Given the description of an element on the screen output the (x, y) to click on. 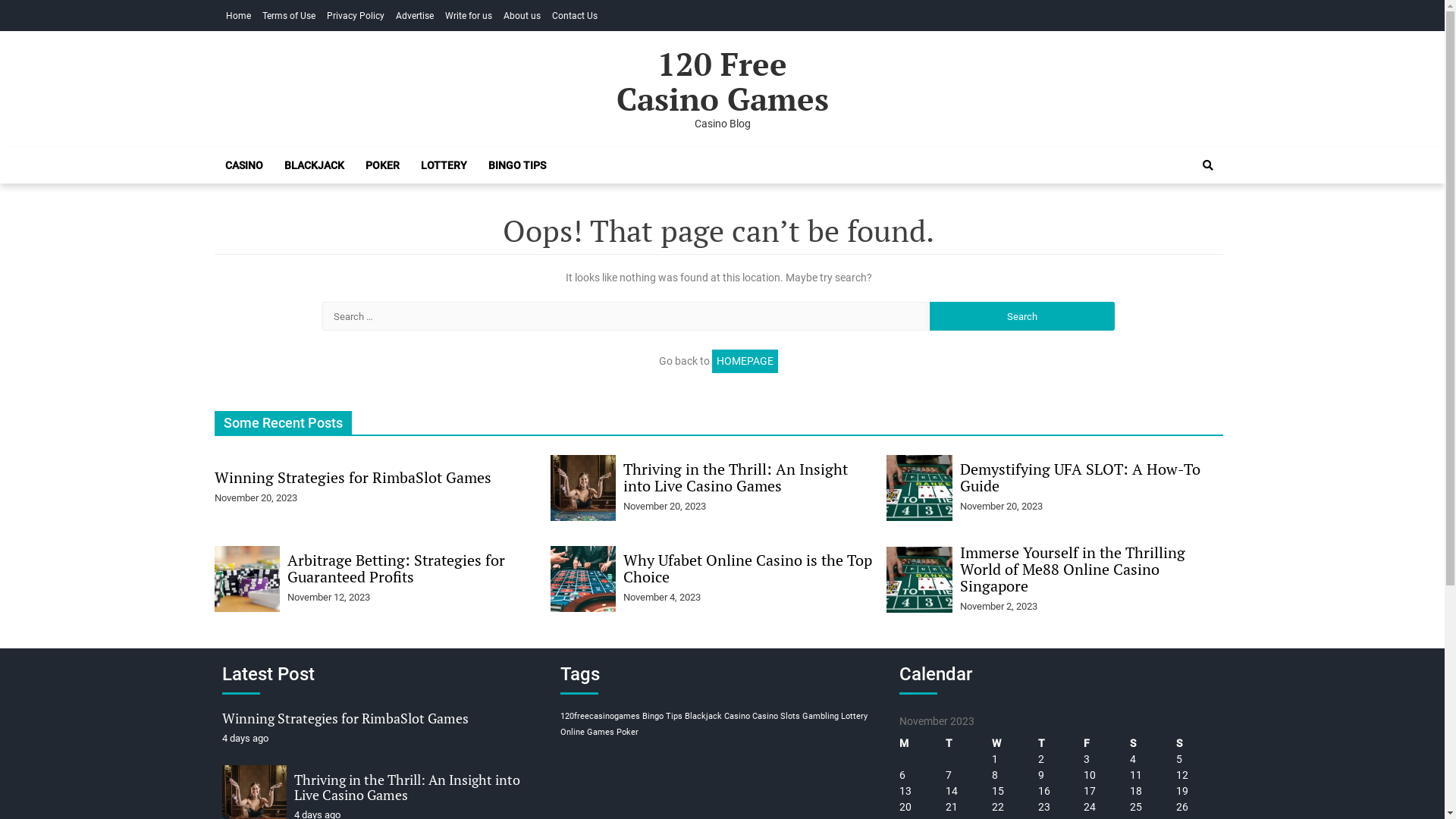
Lottery Element type: text (853, 716)
Gambling Element type: text (820, 716)
Arbitrage Betting: Strategies for Guaranteed Profits Element type: text (396, 567)
Terms of Use Element type: text (288, 15)
Casino Slots Element type: text (776, 716)
4 Element type: text (1132, 759)
Why Ufabet Online Casino is the Top Choice Element type: text (747, 567)
120 Free Casino Games Element type: text (721, 80)
Search Element type: text (1022, 315)
Bingo Tips Element type: text (662, 716)
2 Element type: text (1041, 759)
LOTTERY Element type: text (442, 165)
Home Element type: text (238, 15)
Write for us Element type: text (467, 15)
About us Element type: text (521, 15)
BINGO TIPS Element type: text (516, 165)
Privacy Policy Element type: text (354, 15)
Demystifying UFA SLOT: A How-To Guide Element type: text (1080, 476)
Poker Element type: text (627, 732)
Thriving in the Thrill: An Insight into Live Casino Games Element type: text (407, 786)
Contact Us Element type: text (574, 15)
20 Element type: text (905, 806)
Advertise Element type: text (414, 15)
Online Games Element type: text (587, 732)
Winning Strategies for RimbaSlot Games Element type: text (344, 718)
Winning Strategies for RimbaSlot Games Element type: text (351, 477)
Casino Element type: text (736, 716)
Blackjack Element type: text (702, 716)
POKER Element type: text (382, 165)
CASINO Element type: text (243, 165)
Search Element type: text (1191, 216)
Thriving in the Thrill: An Insight into Live Casino Games Element type: text (735, 476)
120freecasinogames Element type: text (600, 716)
Search Element type: hover (1207, 165)
12 Element type: text (1182, 774)
BLACKJACK Element type: text (313, 165)
HOMEPAGE Element type: text (745, 361)
